Given the description of an element on the screen output the (x, y) to click on. 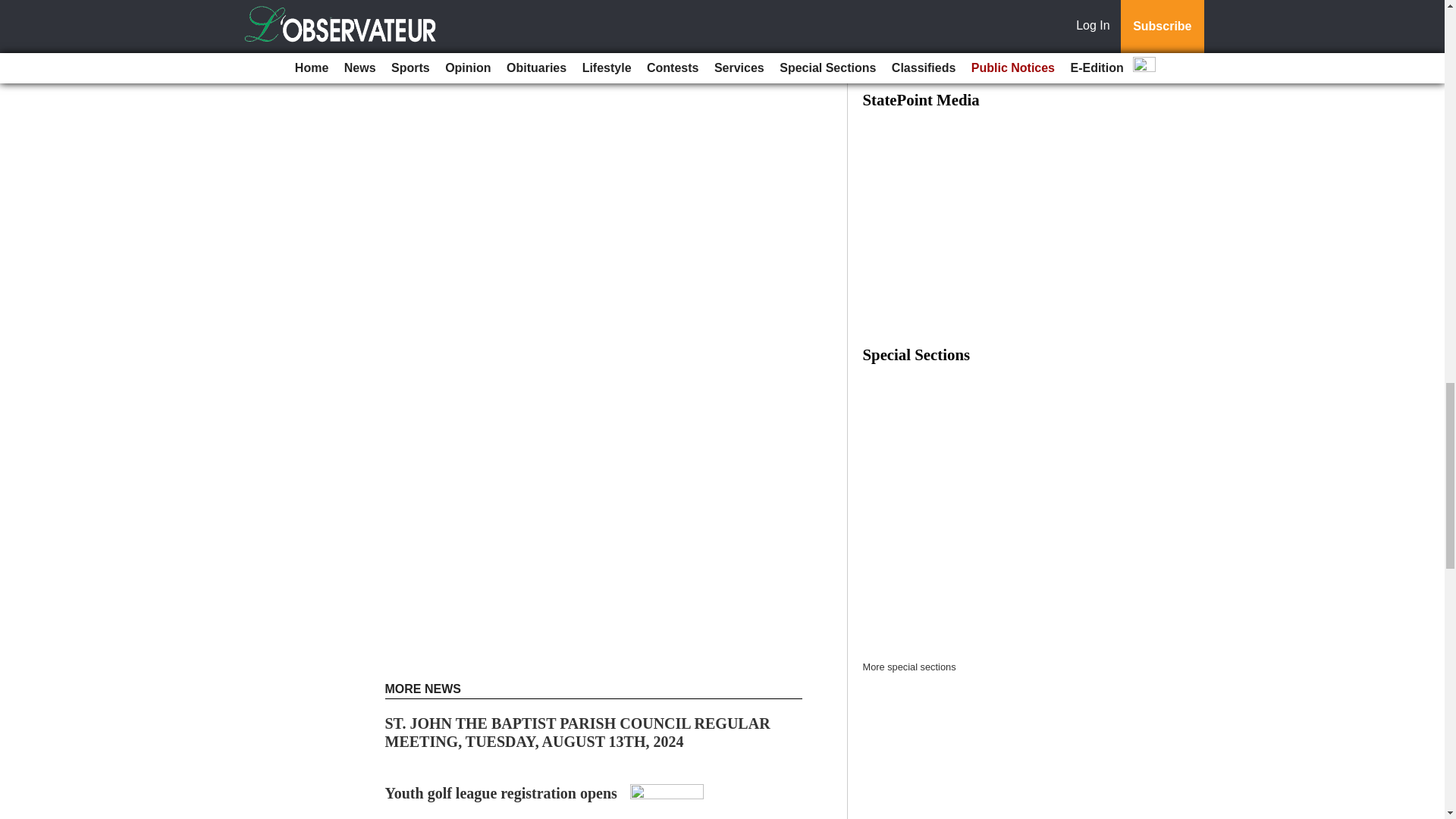
Youth golf league registration opens (501, 792)
Youth golf league registration opens (501, 792)
lasfm.org. (624, 10)
